Given the description of an element on the screen output the (x, y) to click on. 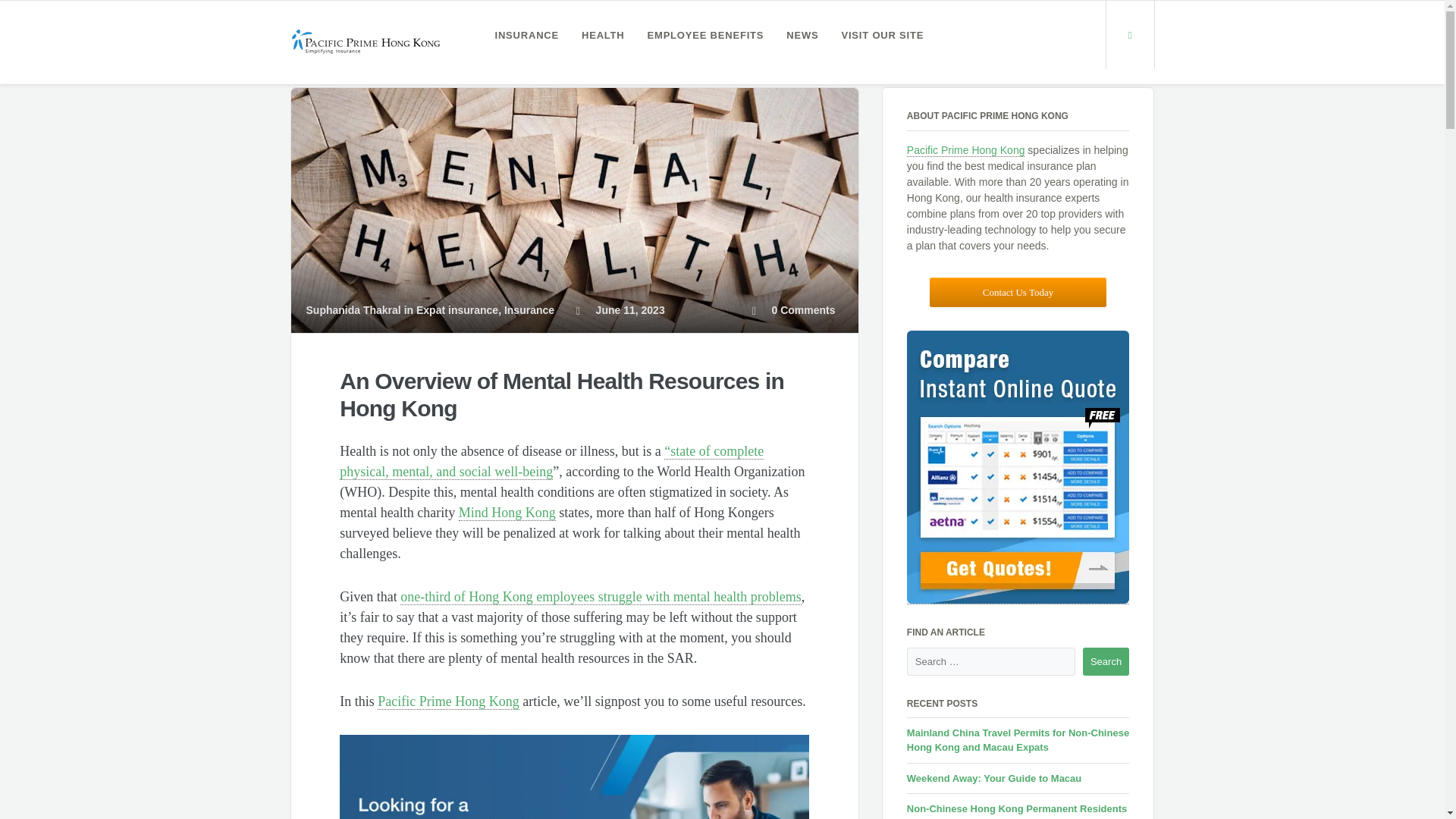
Mind Hong Kong (507, 512)
Search (1106, 661)
Suphanida Thakral (353, 309)
VISIT OUR SITE (881, 34)
Insurance (528, 309)
Search (1106, 661)
NEWS (801, 34)
Pacific Prime Hong Kong (447, 701)
EMPLOYEE BENEFITS (706, 34)
  June 11, 2023 (620, 309)
HEALTH (603, 34)
Expat insurance (456, 309)
  0 Comments (793, 309)
INSURANCE (526, 34)
